Given the description of an element on the screen output the (x, y) to click on. 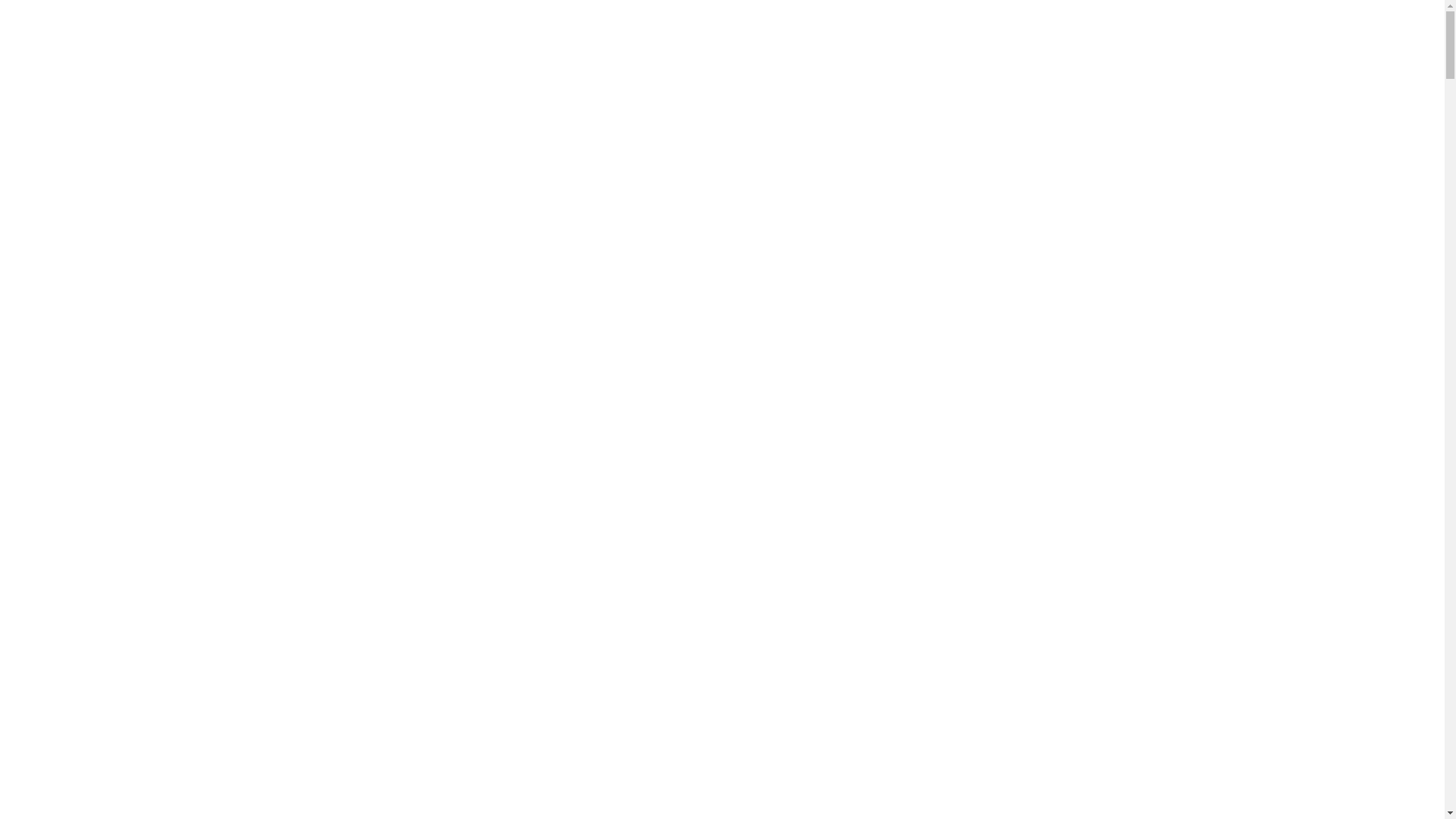
FAQ Element type: text (800, 33)
